Given the description of an element on the screen output the (x, y) to click on. 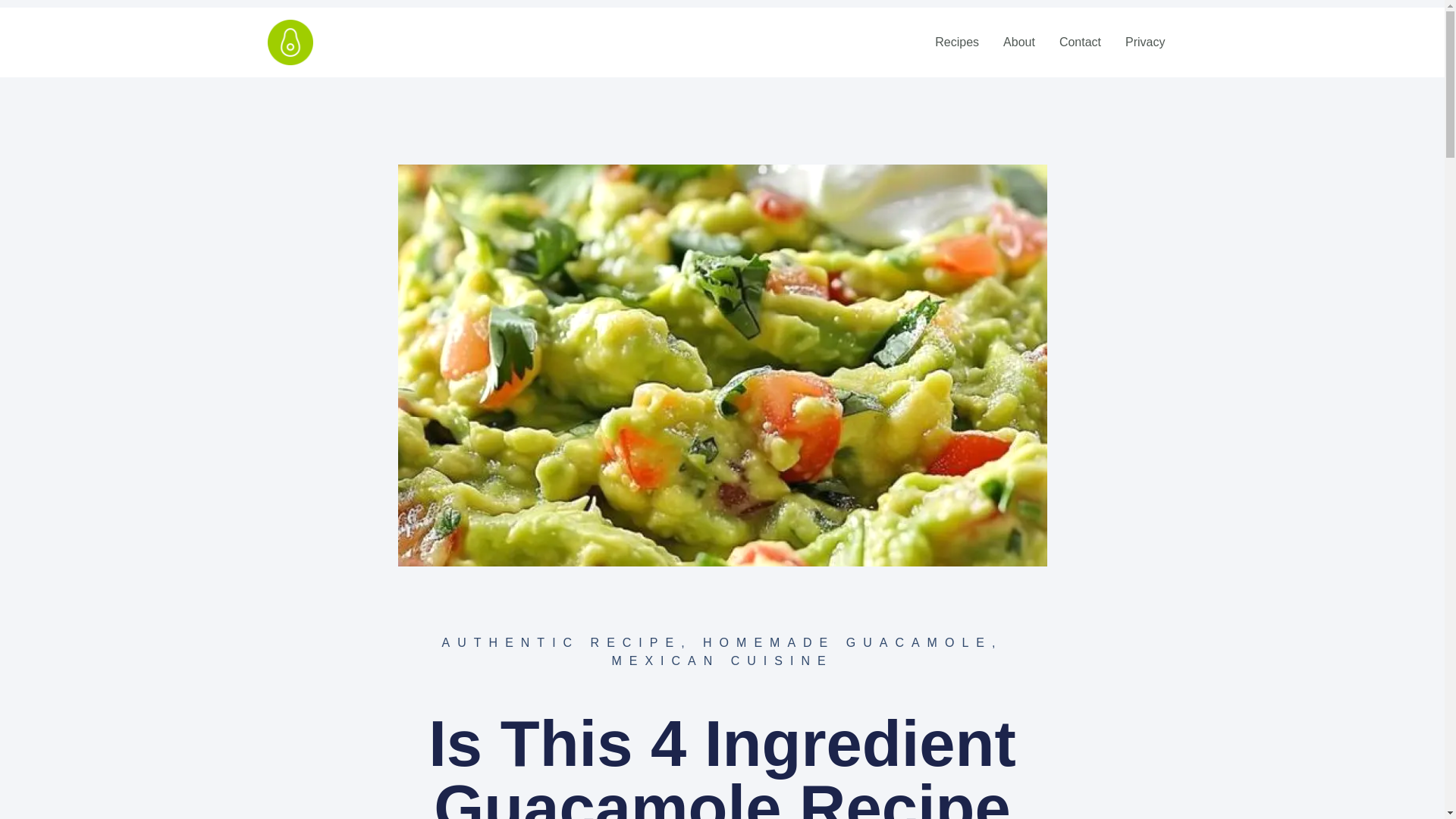
HOMEMADE GUACAMOLE (847, 642)
Contact (1079, 41)
Privacy (1144, 41)
Recipes (957, 41)
About (1018, 41)
MEXICAN CUISINE (721, 660)
AUTHENTIC RECIPE (561, 642)
